Given the description of an element on the screen output the (x, y) to click on. 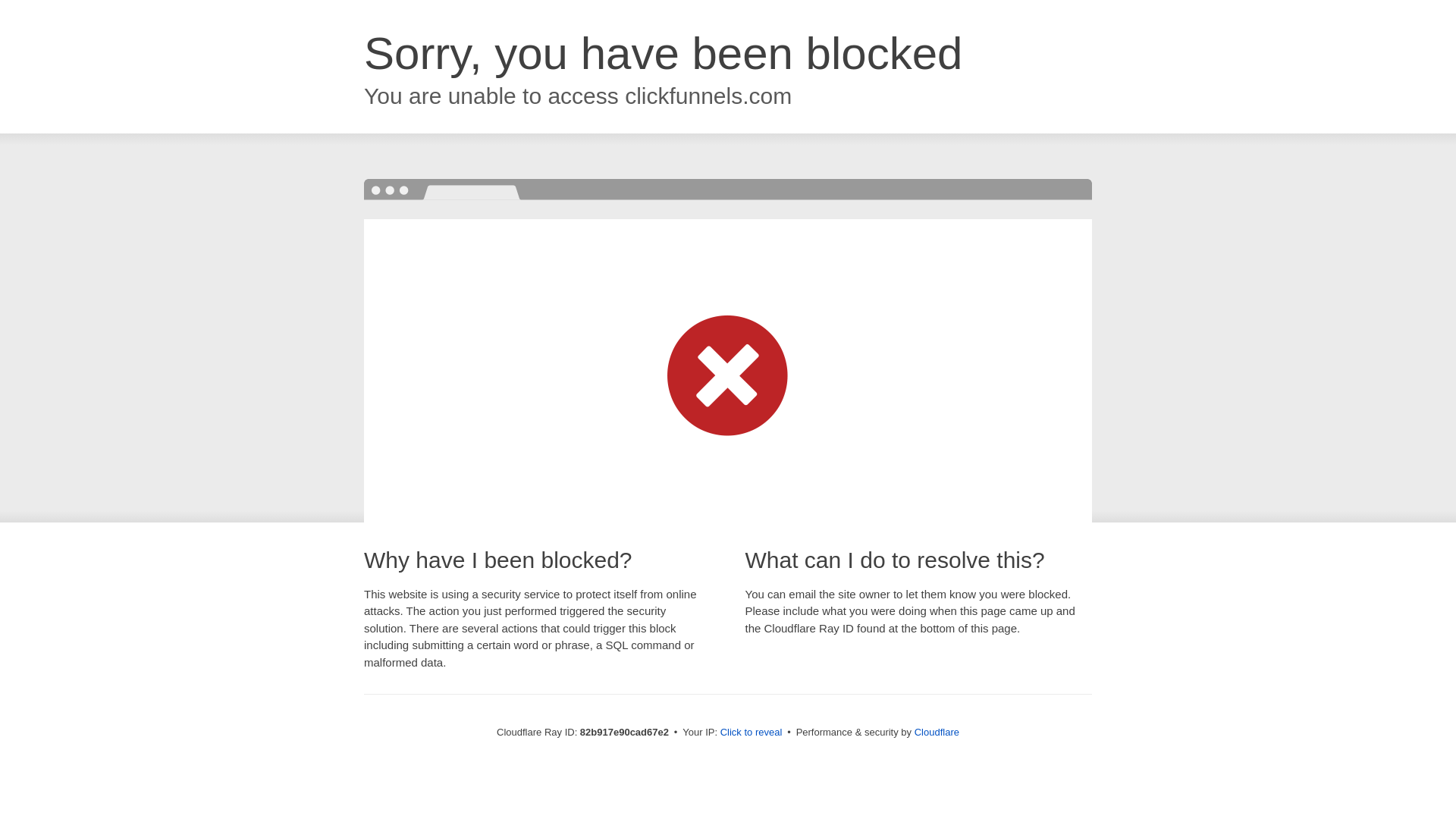
Click to reveal Element type: text (751, 732)
Cloudflare Element type: text (936, 731)
